Given the description of an element on the screen output the (x, y) to click on. 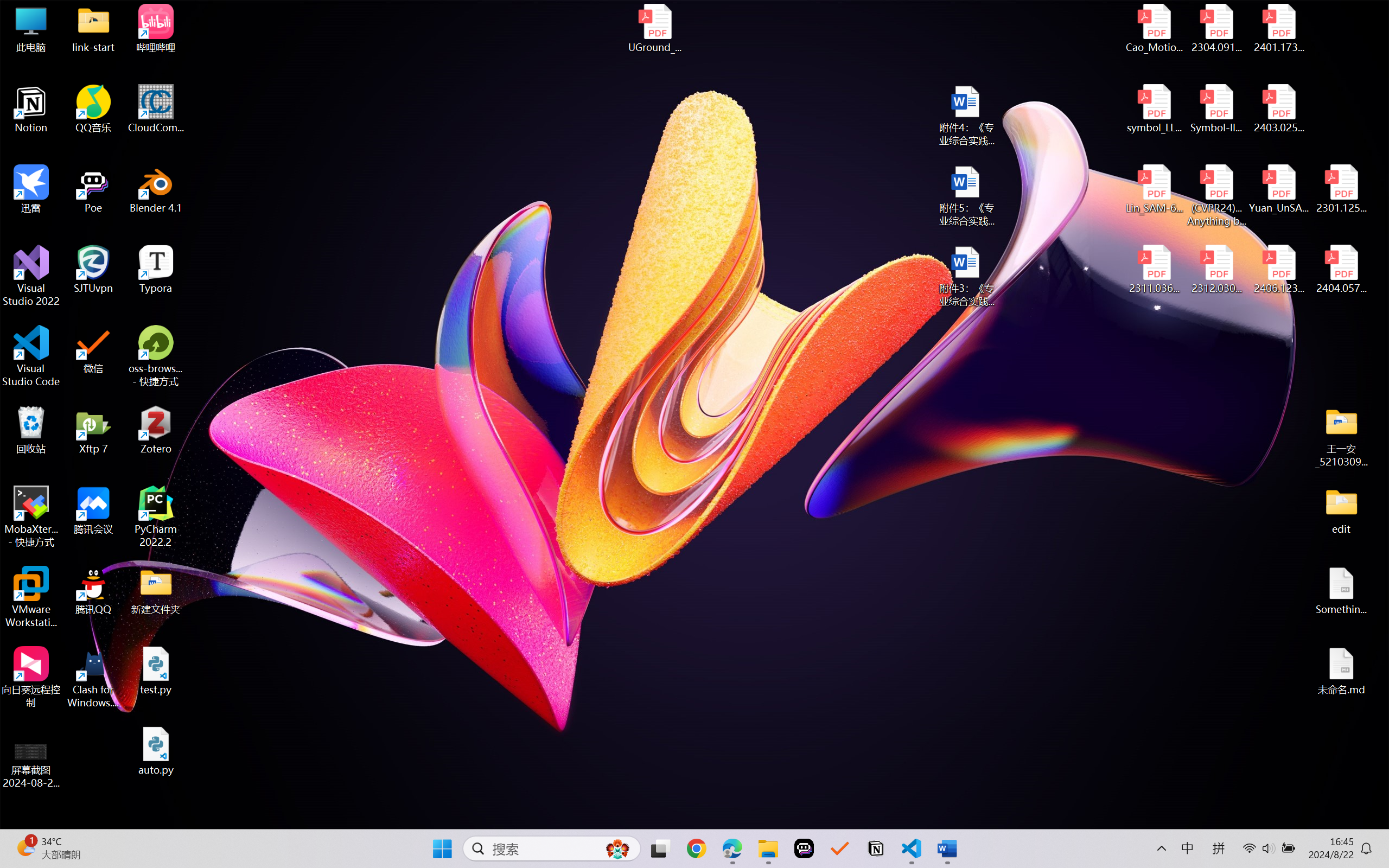
(CVPR24)Matching Anything by Segmenting Anything.pdf (1216, 195)
2404.05719v1.pdf (1340, 269)
Symbol-llm-v2.pdf (1216, 109)
Visual Studio Code (31, 355)
PyCharm 2022.2 (156, 516)
2311.03658v2.pdf (1154, 269)
